Given the description of an element on the screen output the (x, y) to click on. 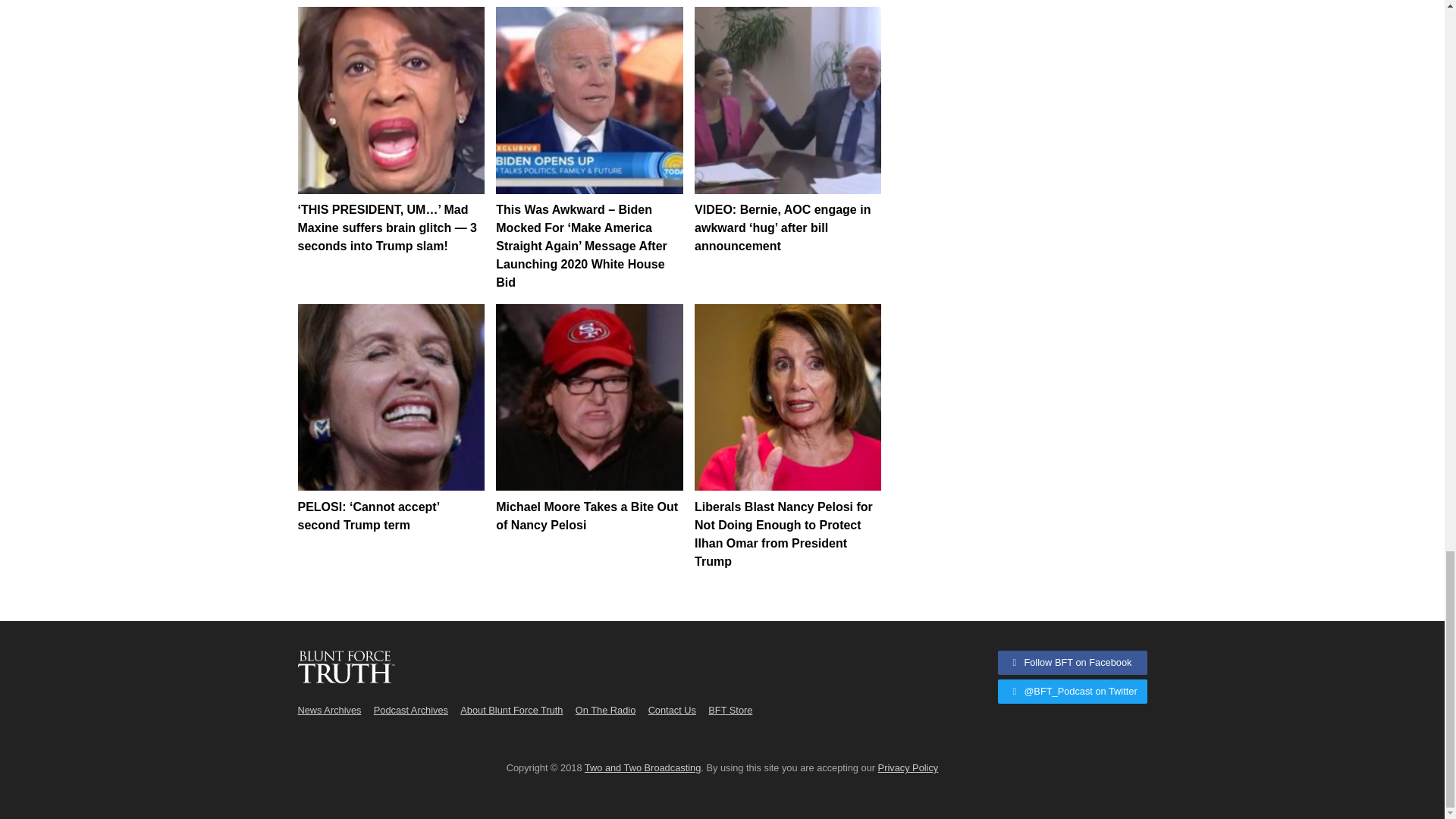
Michael Moore Takes a Bite Out of Nancy Pelosi (589, 396)
